Given the description of an element on the screen output the (x, y) to click on. 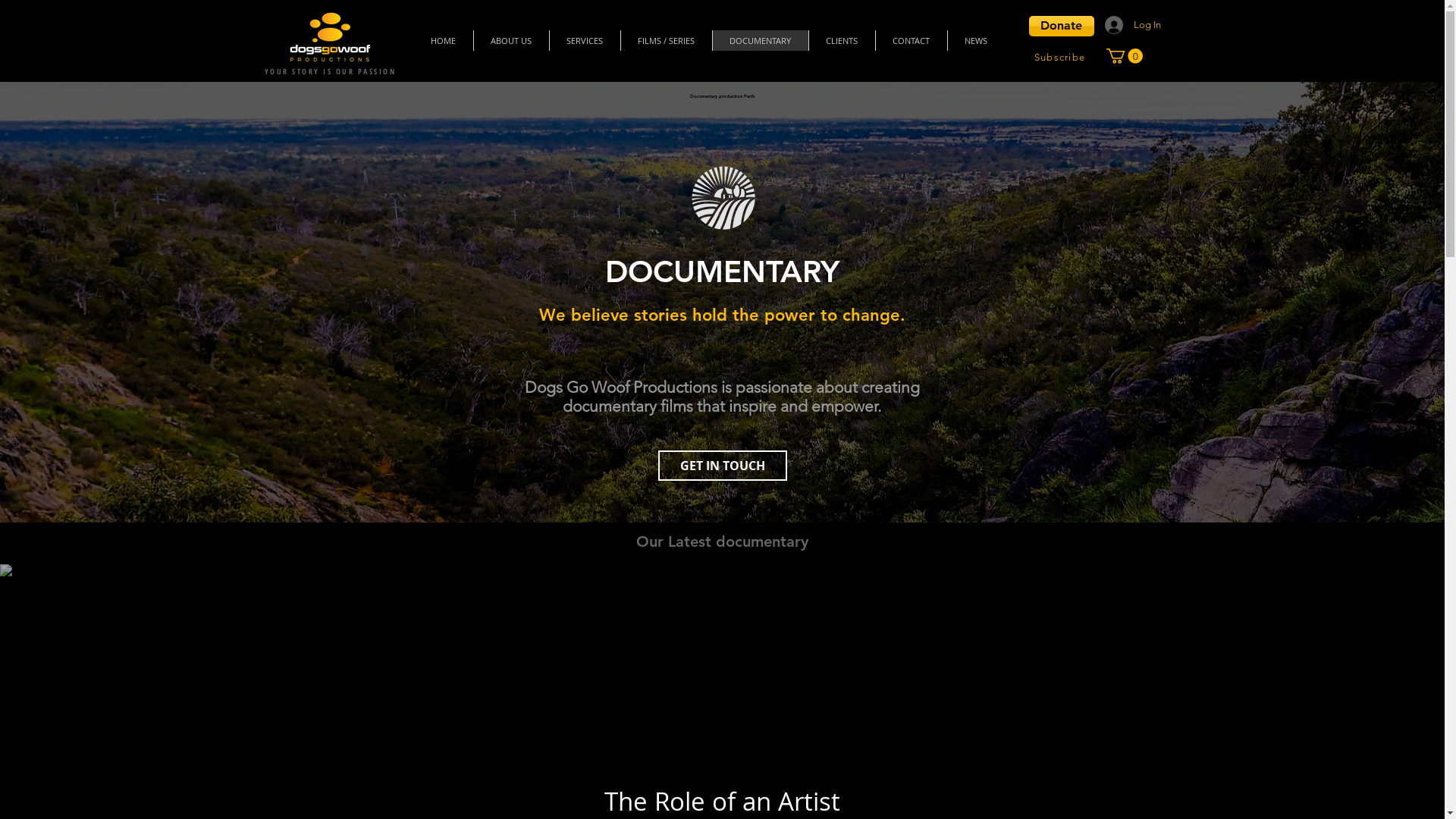
FILMS / SERIES Element type: text (666, 40)
0 Element type: text (1123, 55)
Log In Element type: text (1125, 24)
HOME Element type: text (443, 40)
ABOUT US Element type: text (511, 40)
Subscribe Element type: text (1060, 56)
Donate Element type: text (1060, 25)
CLIENTS Element type: text (841, 40)
DOCUMENTARY Element type: text (759, 40)
CONTACT Element type: text (911, 40)
NEWS Element type: text (975, 40)
GET IN TOUCH Element type: text (722, 465)
SERVICES Element type: text (584, 40)
DGW Logo Element type: hover (329, 37)
